Given the description of an element on the screen output the (x, y) to click on. 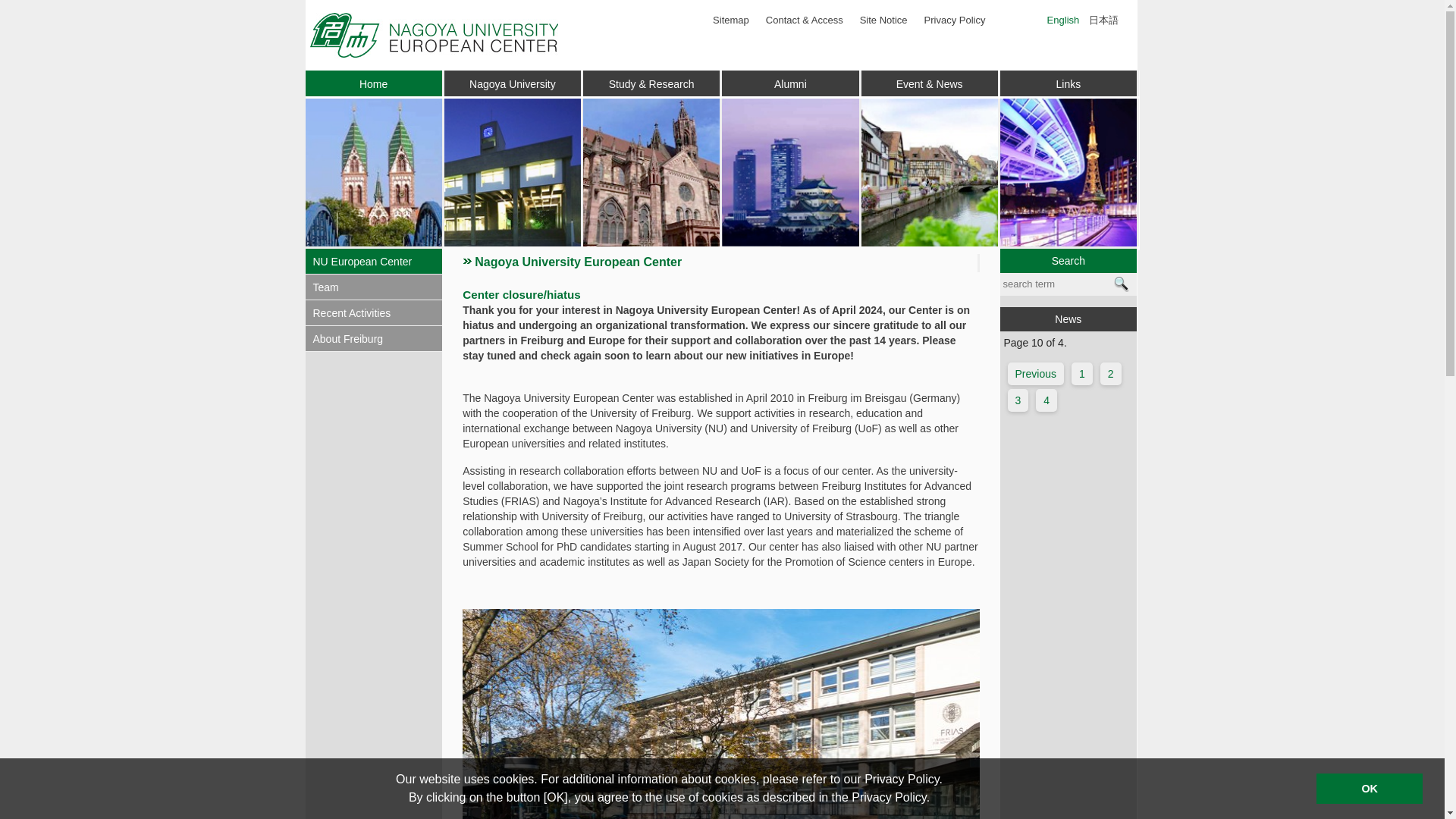
OK (1369, 788)
Privacy Policy (954, 19)
Site Notice (883, 19)
Nagoya University (512, 83)
Sitemap (731, 19)
Home (373, 83)
